Given the description of an element on the screen output the (x, y) to click on. 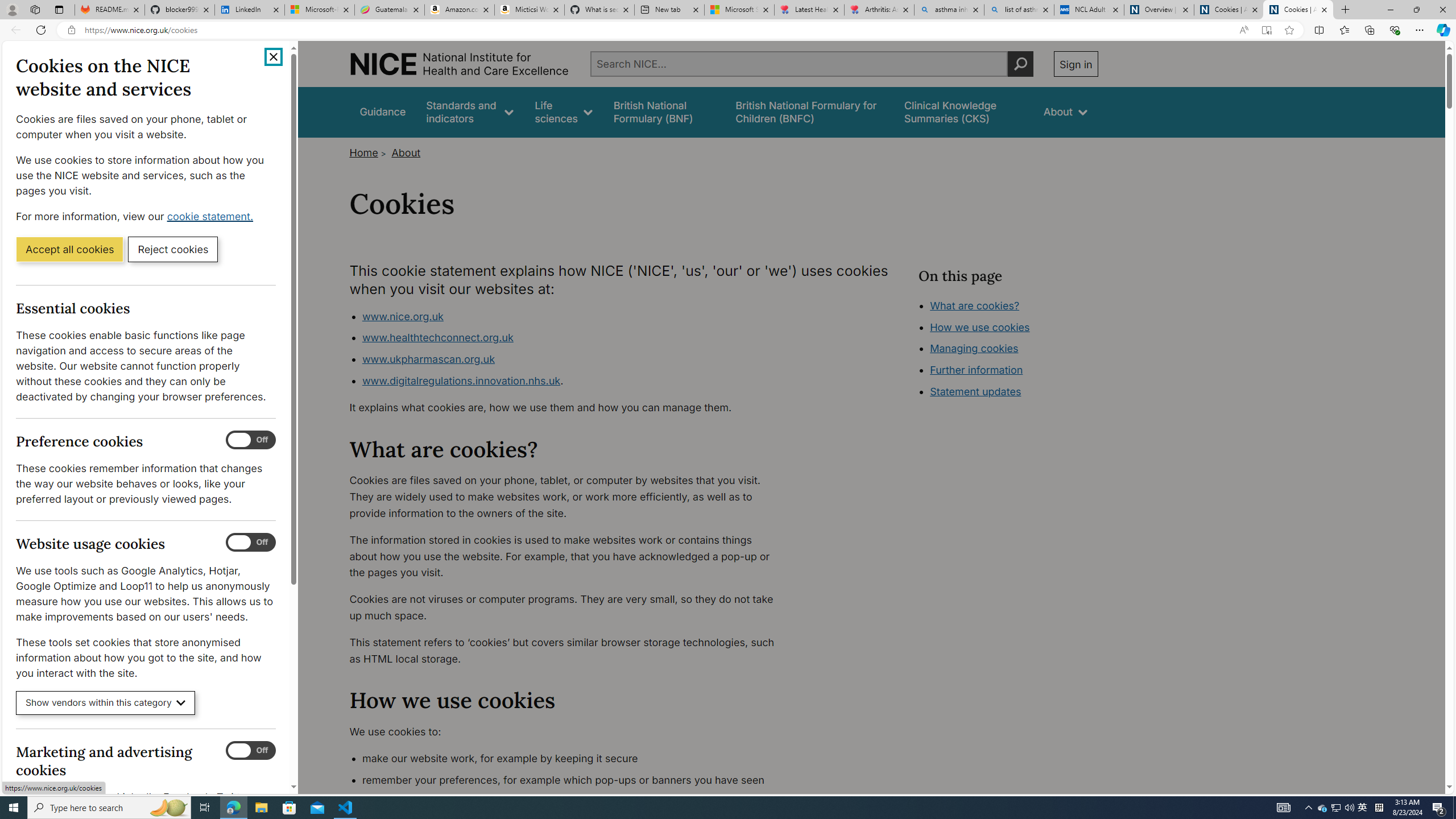
British National Formulary for Children (BNFC) (809, 111)
Guidance (382, 111)
Preference cookies (250, 439)
Guidance (382, 111)
false (963, 111)
